Given the description of an element on the screen output the (x, y) to click on. 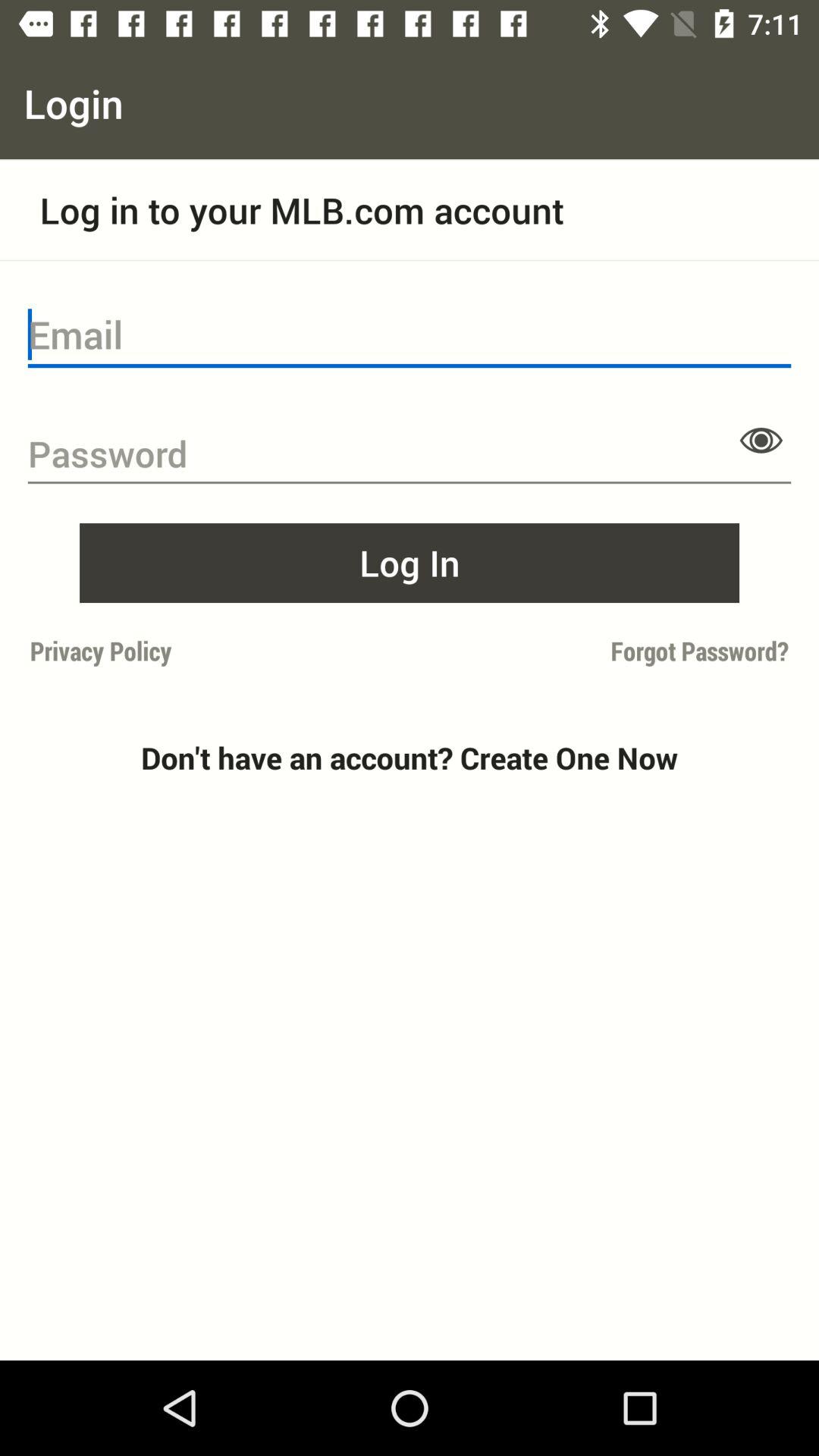
select item at the top right corner (761, 440)
